Given the description of an element on the screen output the (x, y) to click on. 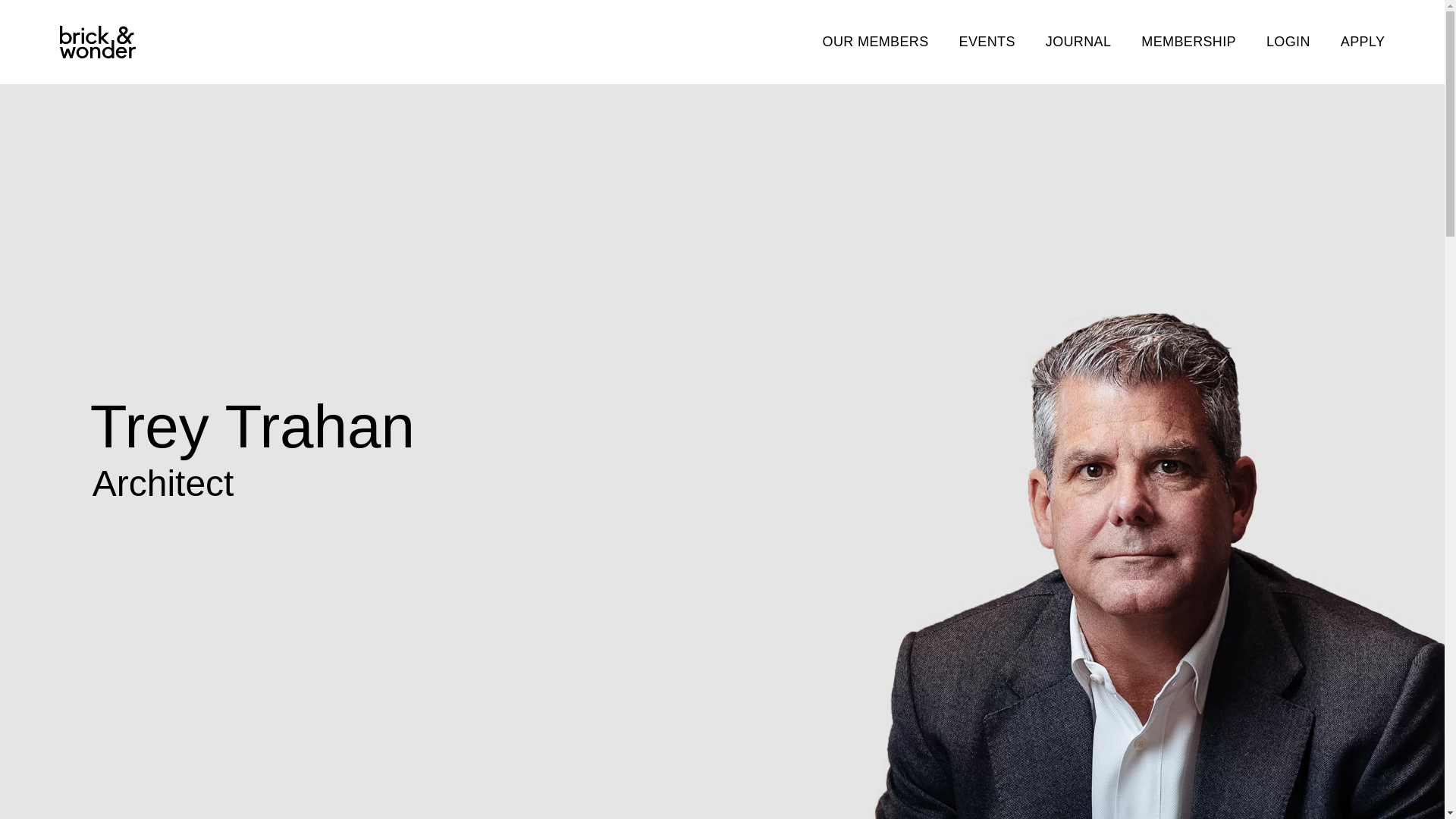
APPLY (1363, 41)
OUR MEMBERS (875, 41)
JOURNAL (1078, 41)
LOGIN (1288, 41)
EVENTS (986, 41)
MEMBERSHIP (1188, 41)
